Given the description of an element on the screen output the (x, y) to click on. 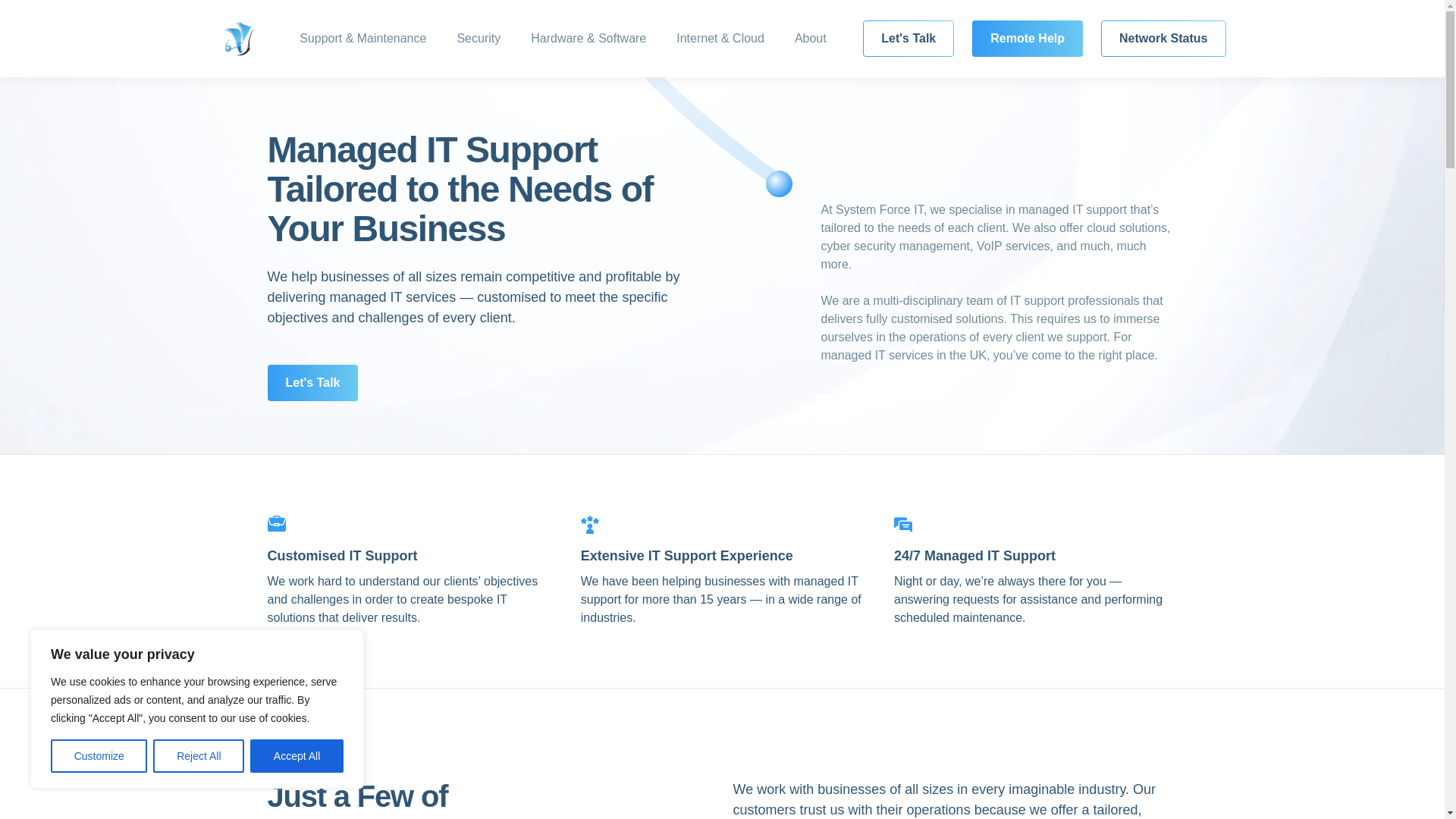
Accept All (296, 756)
Reject All (198, 756)
Customize (98, 756)
